Given the description of an element on the screen output the (x, y) to click on. 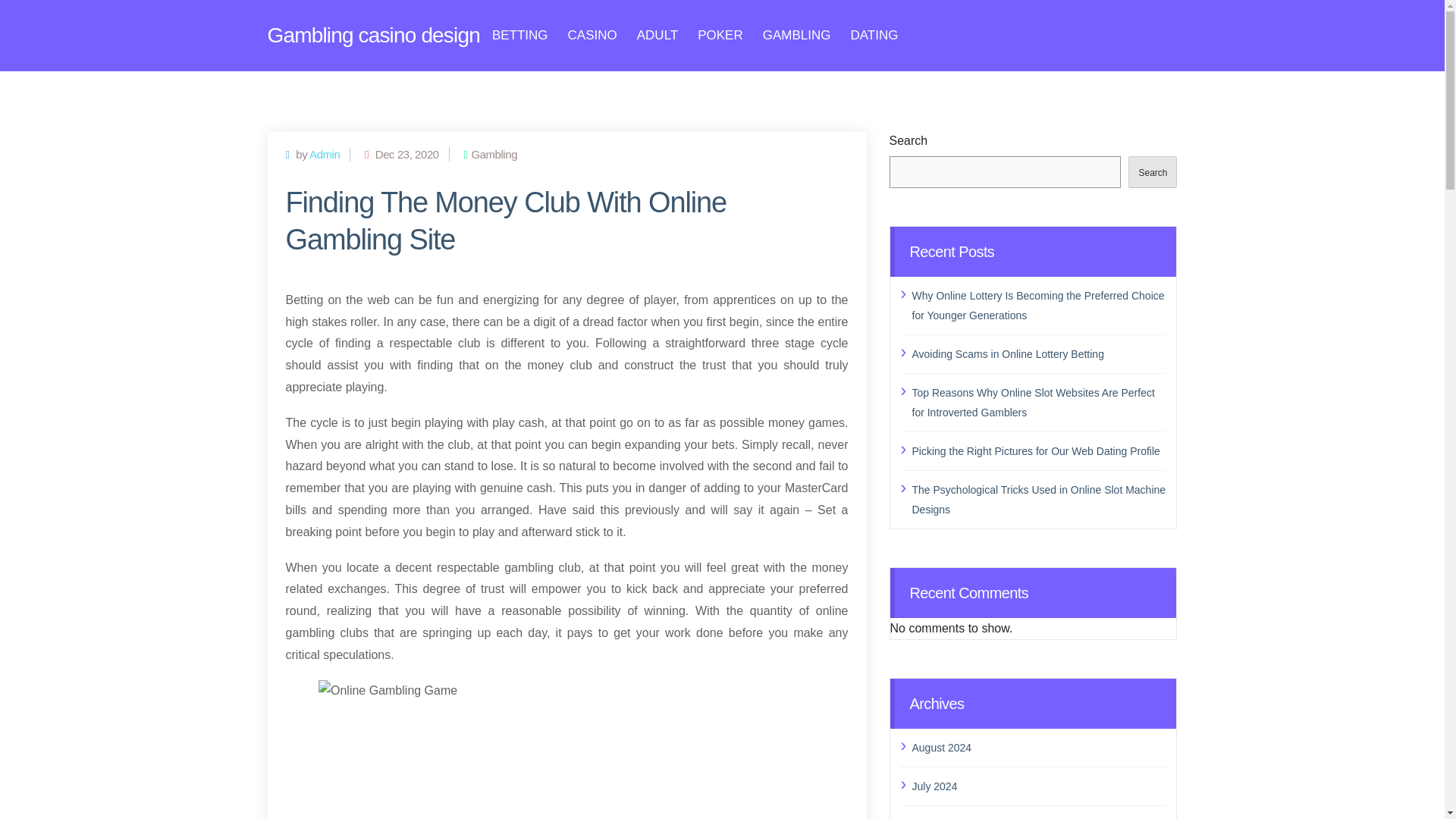
Picking the Right Pictures for Our Web Dating Profile (1038, 451)
The Psychological Tricks Used in Online Slot Machine Designs (1038, 498)
POKER (719, 35)
Gambling casino design (372, 35)
GAMBLING (796, 35)
Search (1152, 172)
August 2024 (1038, 747)
BETTING (520, 35)
